Given the description of an element on the screen output the (x, y) to click on. 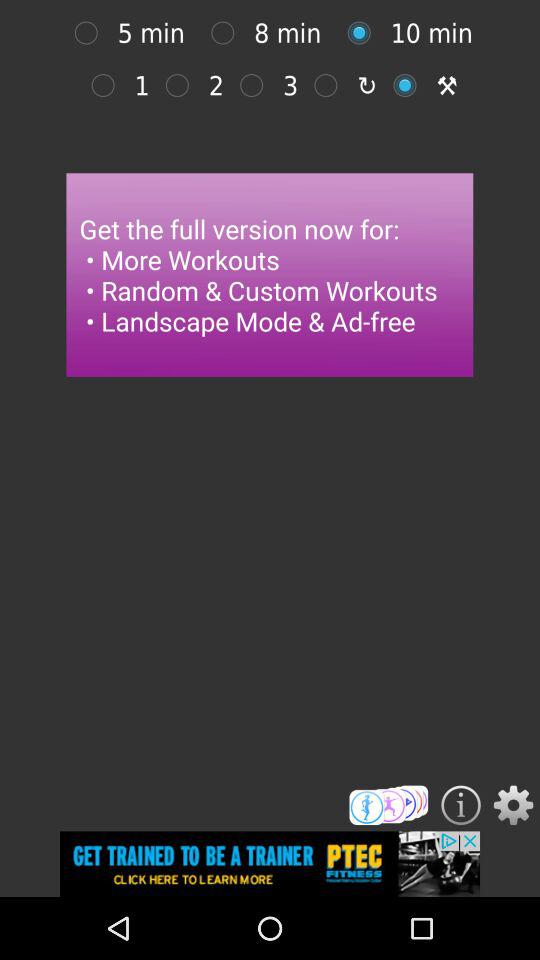
setting (513, 805)
